Given the description of an element on the screen output the (x, y) to click on. 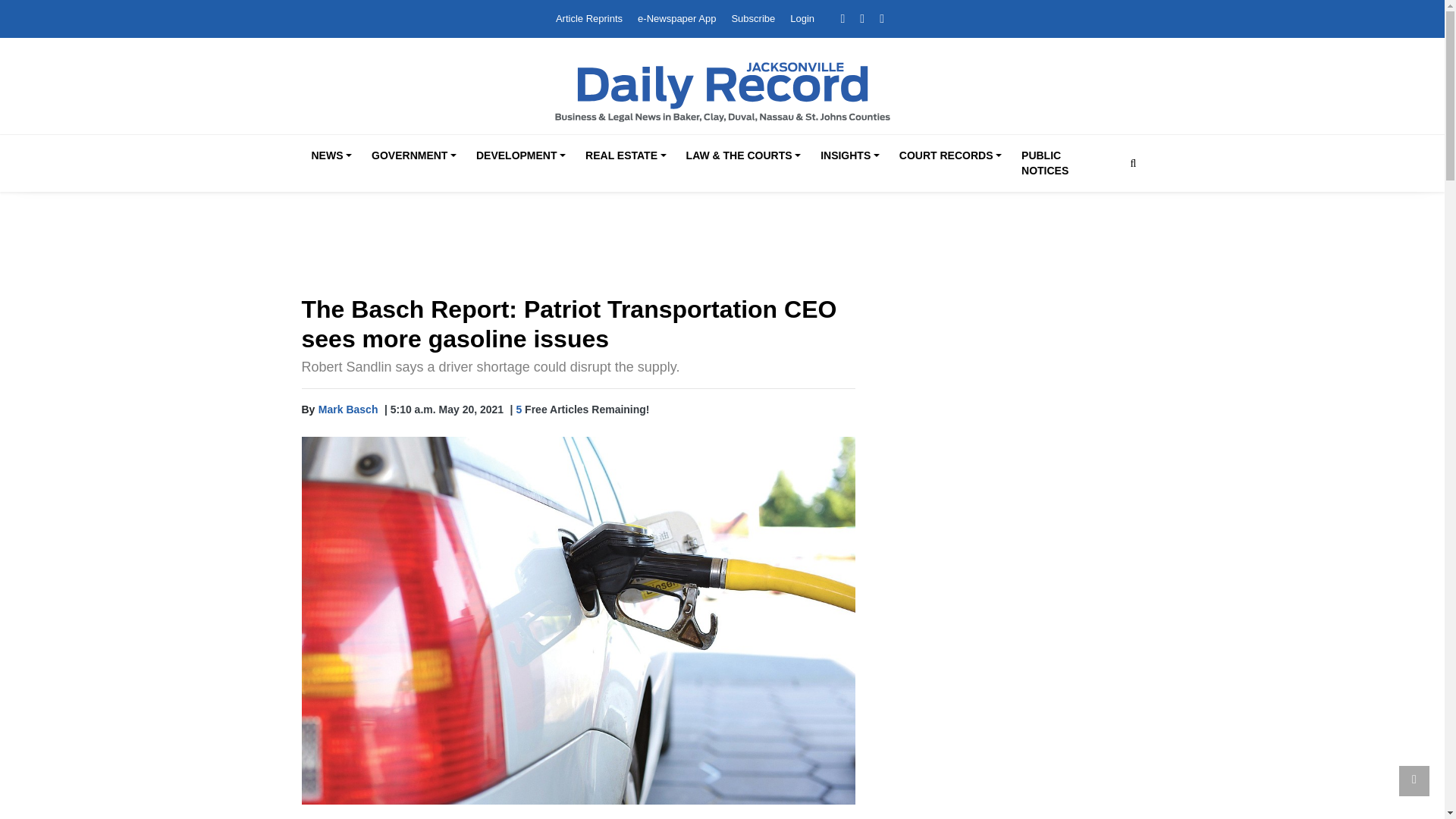
e-Newspaper App (676, 18)
REAL ESTATE (625, 156)
DEVELOPMENT (520, 156)
Login (801, 18)
COURT RECORDS (950, 156)
3rd party ad content (722, 246)
Subscribe (752, 18)
INSIGHTS (849, 156)
Article Reprints (589, 18)
NEWS (330, 156)
GOVERNMENT (414, 156)
